Given the description of an element on the screen output the (x, y) to click on. 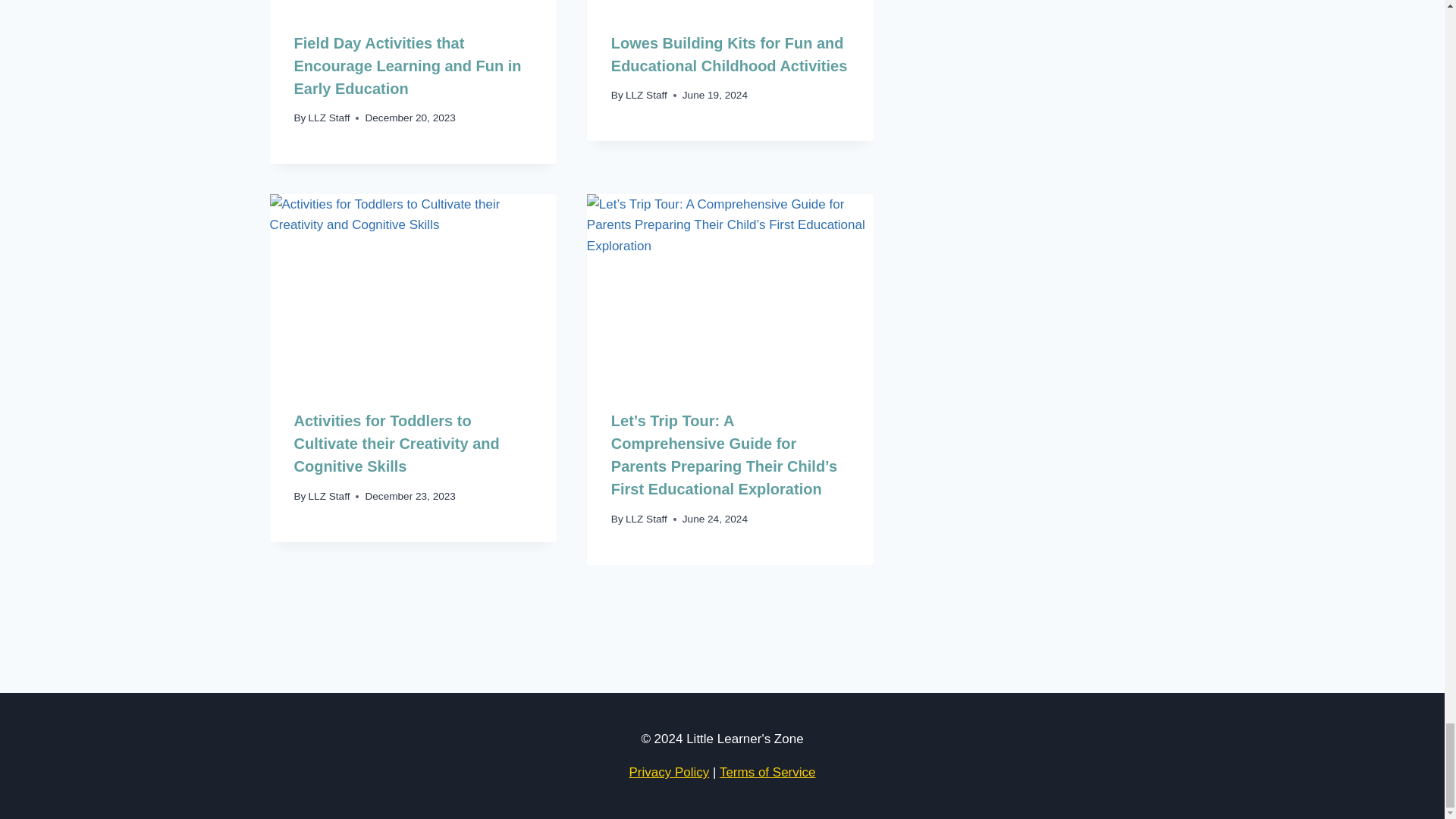
LLZ Staff (329, 117)
